Given the description of an element on the screen output the (x, y) to click on. 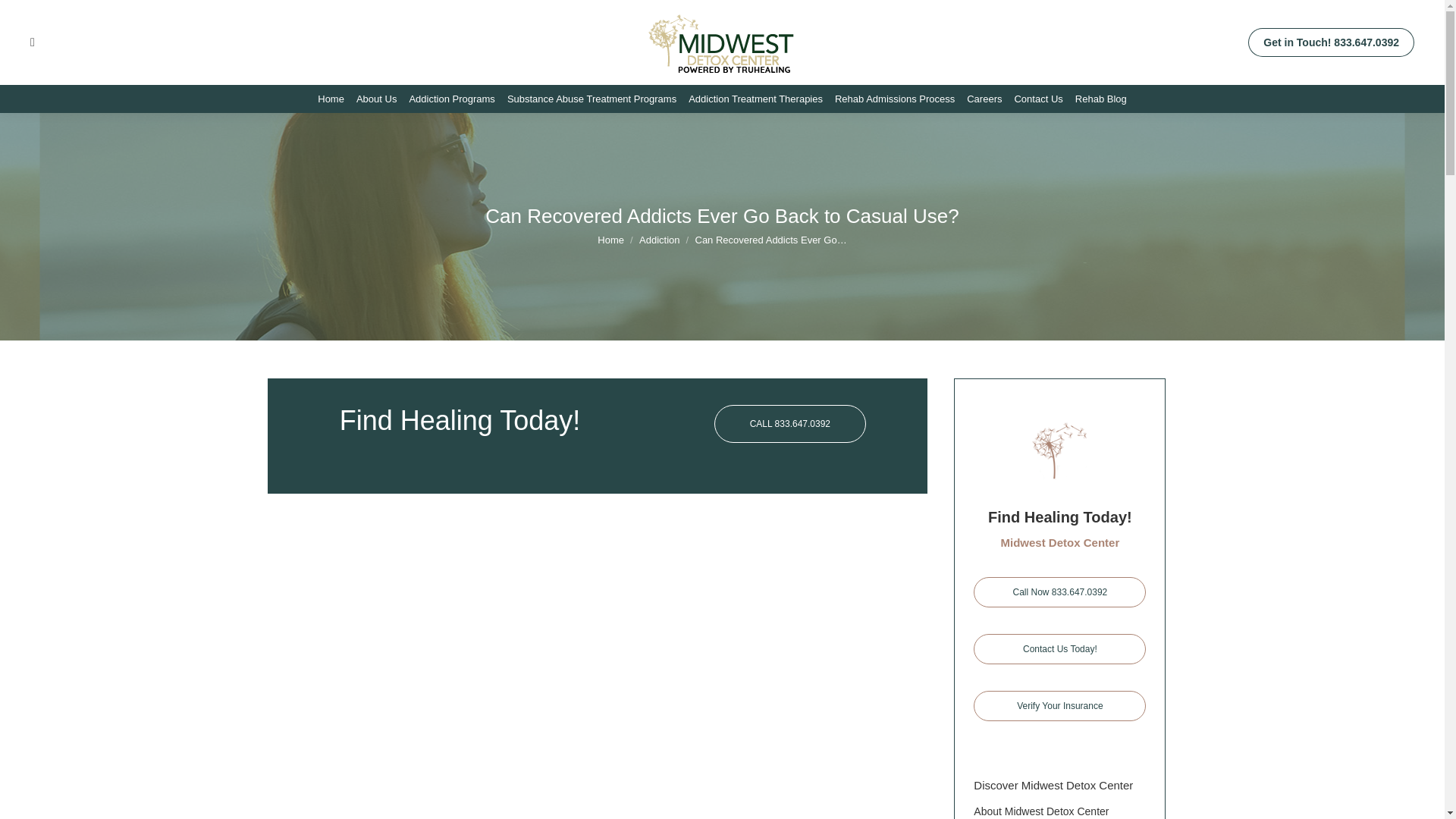
Home (610, 239)
Midwest Detox Center old ipad (1059, 450)
Contact Midwest Detox Center (1059, 648)
Go! (24, 15)
Home (330, 99)
Get in Touch! 833.647.0392 (1330, 41)
About Us (376, 99)
Verify Your Insurance (1059, 706)
Addiction Programs (451, 99)
Addiction Treatment Therapies (755, 99)
Addiction (659, 239)
Substance Abuse Treatment Programs (591, 99)
